Given the description of an element on the screen output the (x, y) to click on. 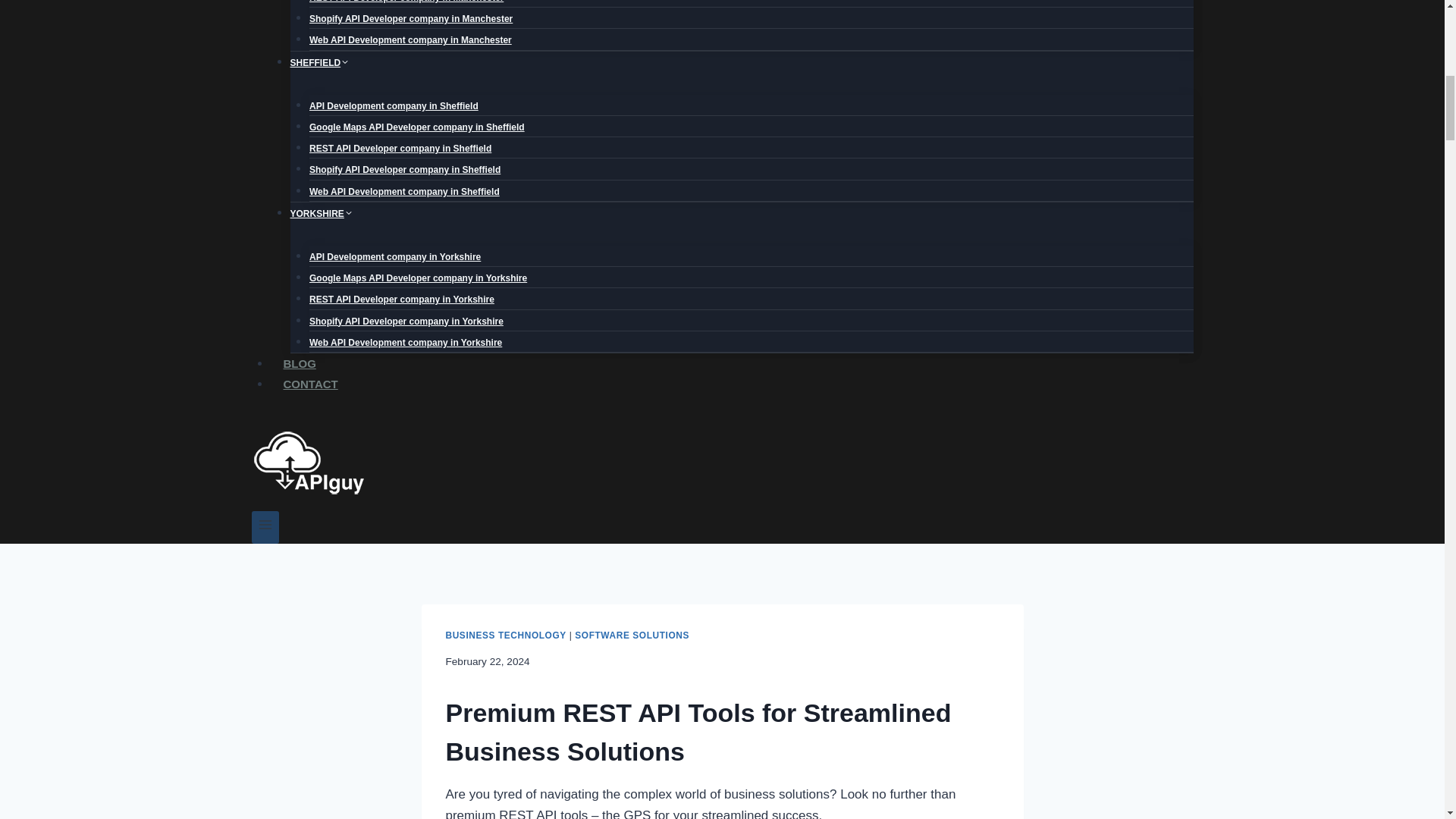
API Development company in Sheffield (393, 105)
Google Maps API Developer company in Sheffield (416, 127)
YORKSHIRE (320, 213)
Shopify API Developer company in Manchester (410, 18)
Web API Development company in Sheffield (403, 191)
API Development company in Yorkshire (394, 256)
SHEFFIELD (319, 62)
REST API Developer company in Sheffield (400, 148)
Shopify API Developer company in Sheffield (404, 169)
Web API Development company in Manchester (410, 39)
REST API Developer company in Manchester (405, 6)
